Given the description of an element on the screen output the (x, y) to click on. 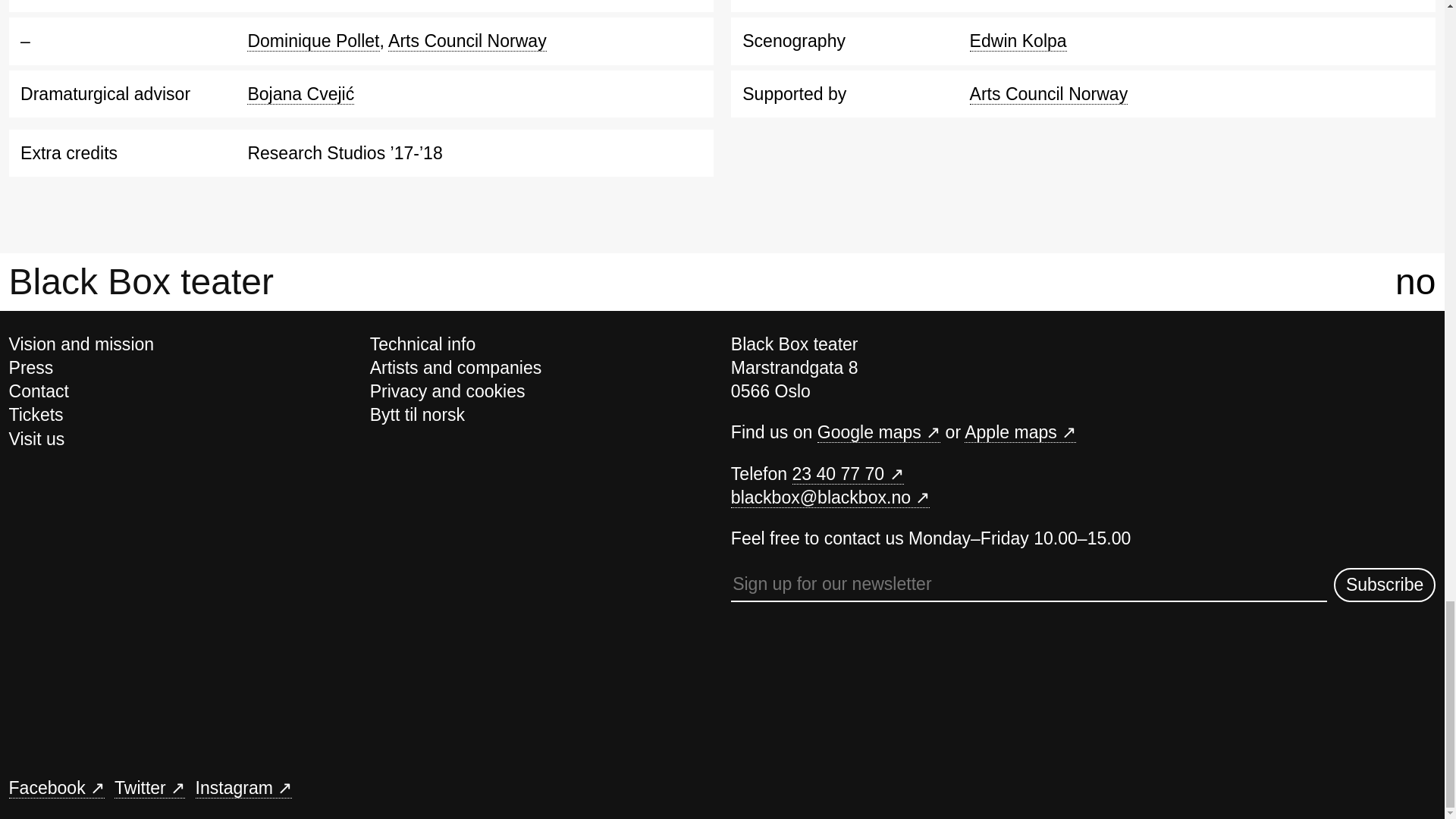
Subscribe (1384, 584)
: null (878, 432)
Bytt til norsk (416, 414)
: null (243, 788)
: null (56, 788)
: null (1019, 432)
: null (149, 788)
: null (847, 474)
